Given the description of an element on the screen output the (x, y) to click on. 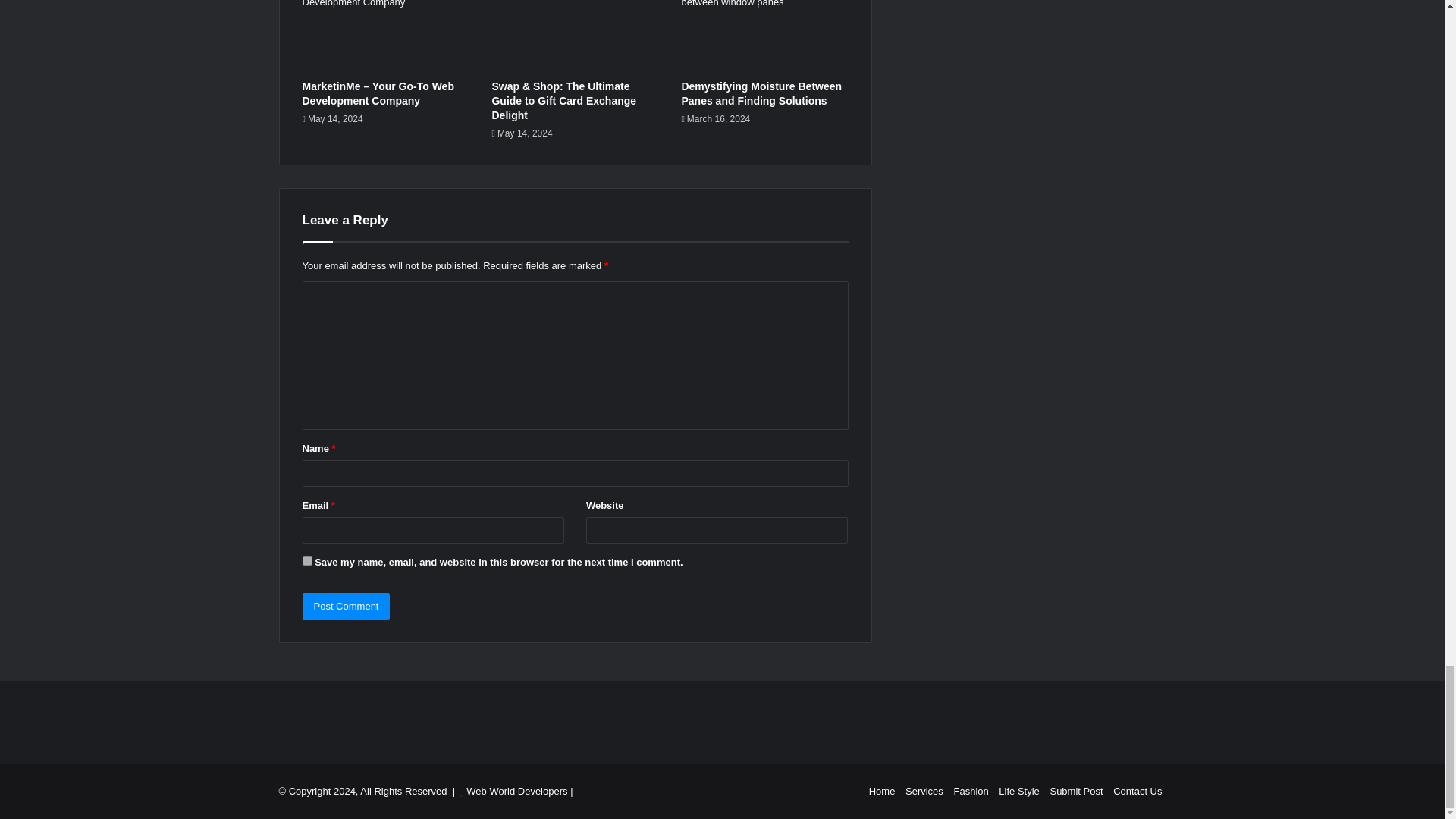
Post Comment (345, 605)
yes (306, 560)
